Given the description of an element on the screen output the (x, y) to click on. 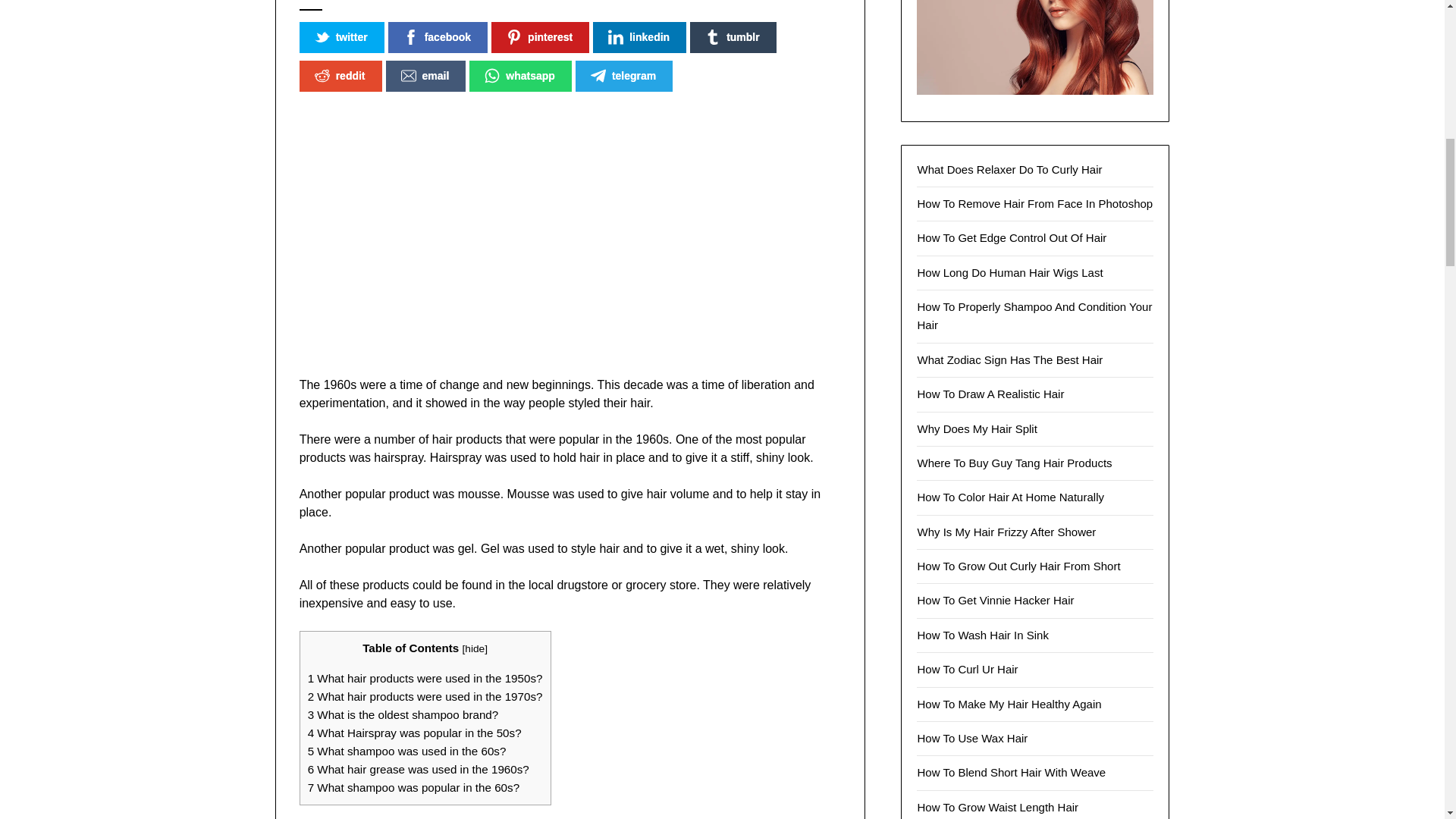
twitter (341, 37)
pinterest (540, 37)
2 What hair products were used in the 1970s? (425, 696)
6 What hair grease was used in the 1960s? (418, 768)
whatsapp (520, 75)
linkedin (638, 37)
hide (474, 648)
5 What shampoo was used in the 60s? (406, 750)
4 What Hairspray was popular in the 50s? (414, 732)
facebook (437, 37)
tumblr (733, 37)
3 What is the oldest shampoo brand? (403, 714)
reddit (340, 75)
1 What hair products were used in the 1950s? (425, 677)
email (425, 75)
